Given the description of an element on the screen output the (x, y) to click on. 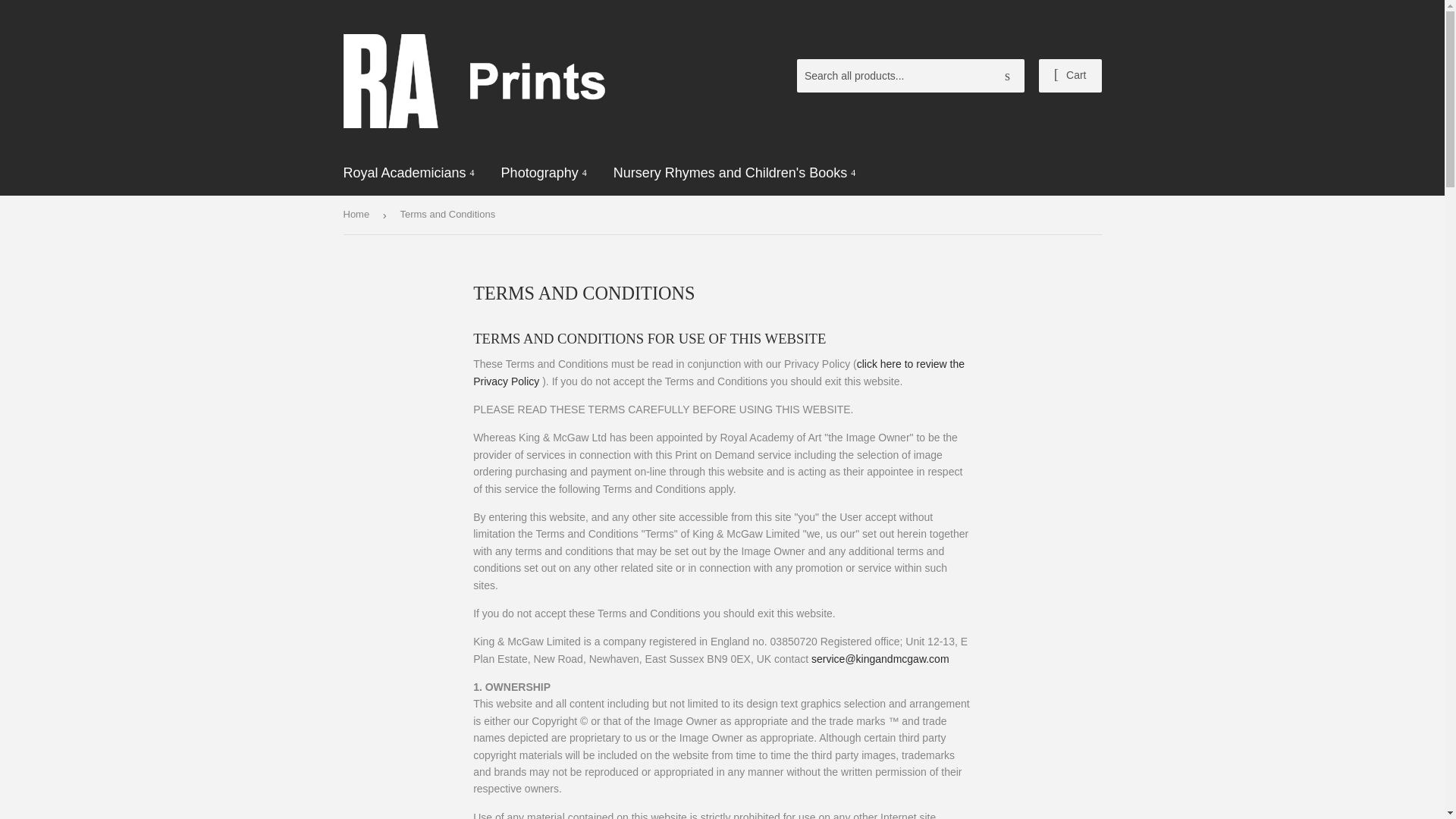
Search (1007, 76)
Royal Academicians (408, 172)
Nursery Rhymes and Children's Books (734, 172)
Photography (543, 172)
Cart (1070, 75)
